Given the description of an element on the screen output the (x, y) to click on. 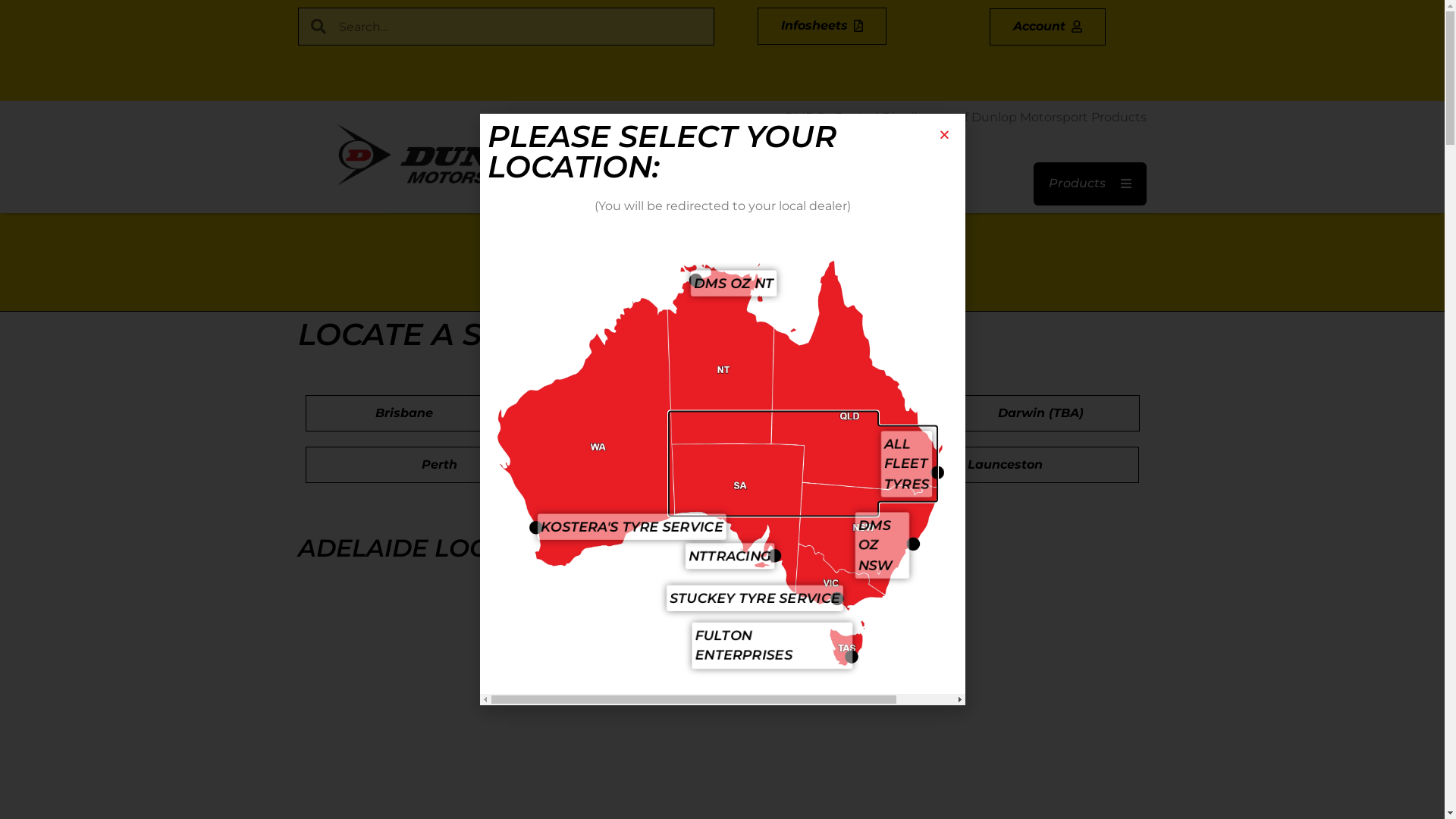
Infosheets Element type: text (821, 25)
Sydney Element type: text (827, 413)
HOME Element type: text (547, 285)
Adelaide Element type: text (615, 413)
ALL FLEET TYRES Element type: text (906, 463)
DMS OZ NSW Element type: text (882, 545)
Launceston Element type: text (1005, 464)
Melbourne Element type: text (722, 464)
KOSTERA'S TYRE SERVICE Element type: text (631, 526)
LOCATE US Element type: text (769, 285)
DMS OZ NT Element type: text (733, 283)
FULTON ENTERPRISES Element type: text (772, 645)
NTTRACING Element type: text (729, 555)
Brisbane Element type: text (403, 413)
SHOP Element type: text (685, 285)
Perth Element type: text (438, 464)
Darwin (TBA) Element type: text (1040, 413)
Products Element type: text (1089, 183)
NEWS Element type: text (617, 285)
STUCKEY TYRE SERVICE Element type: text (754, 597)
Account Element type: text (1047, 25)
CONTACT US Element type: text (876, 285)
